Given the description of an element on the screen output the (x, y) to click on. 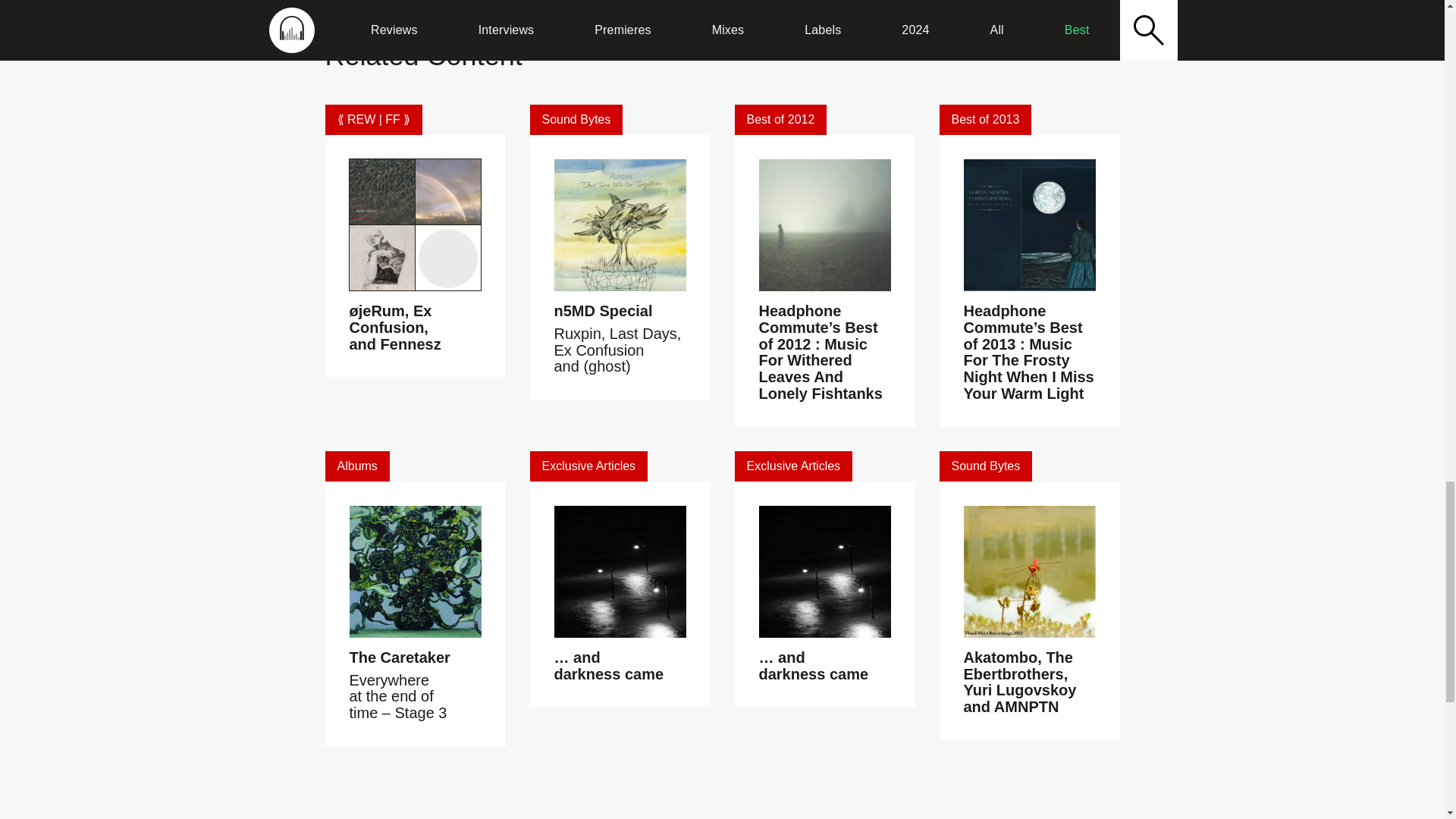
Albums (356, 466)
Best of 2013 (984, 119)
Sound Bytes (576, 119)
Exclusive Articles (588, 466)
n5MD Special (602, 310)
Exclusive Articles (792, 466)
Sound Bytes (985, 466)
Best of 2012 (780, 119)
The Caretaker (399, 657)
